Given the description of an element on the screen output the (x, y) to click on. 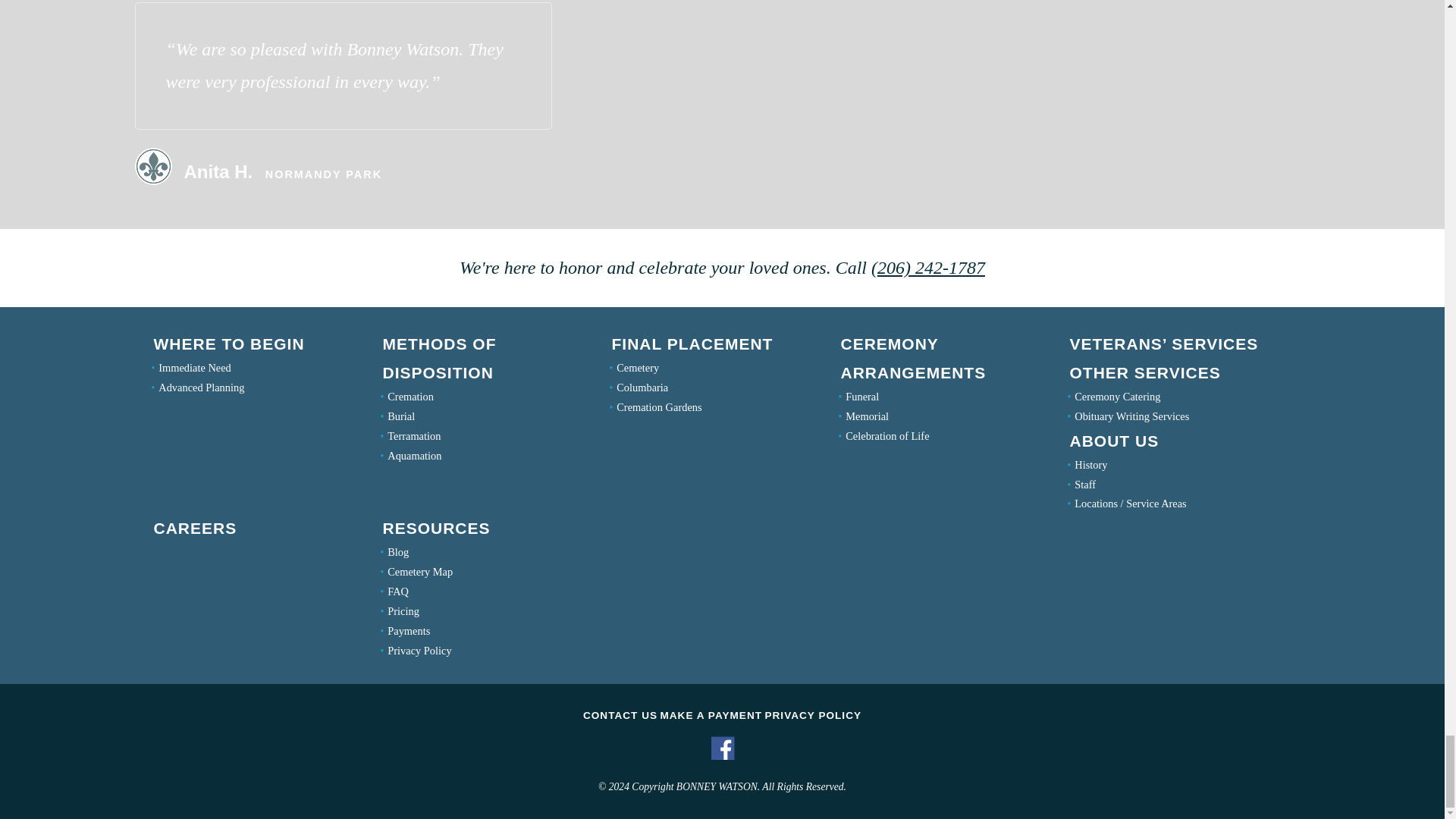
Facebook (722, 757)
